Given the description of an element on the screen output the (x, y) to click on. 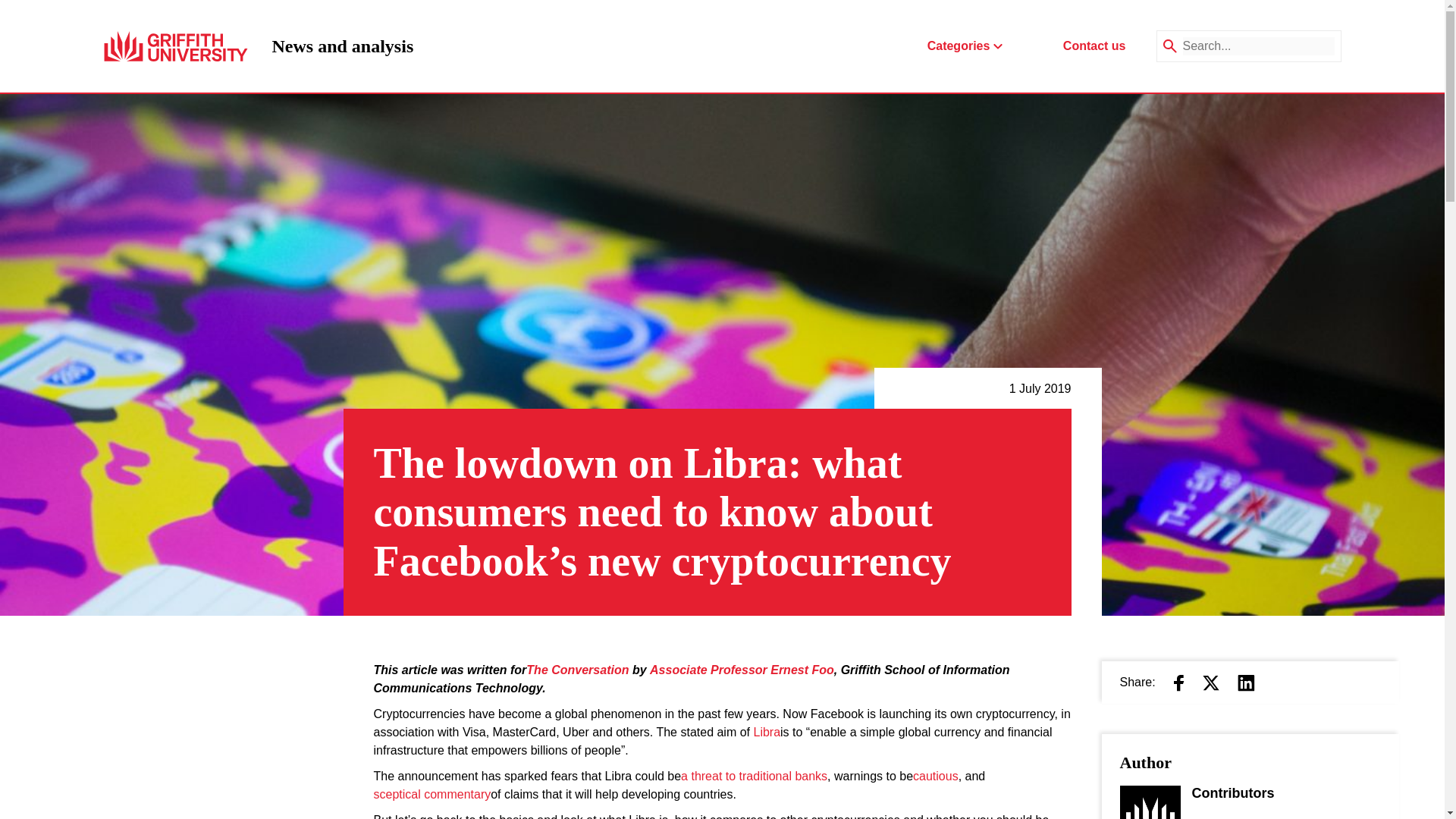
Libra (766, 732)
Associate (678, 669)
Professor Ernest Foo (772, 669)
a threat to traditional banks (754, 776)
The Conversation (576, 669)
Contact us (341, 46)
sceptical commentary (1093, 45)
cautious (431, 794)
